Given the description of an element on the screen output the (x, y) to click on. 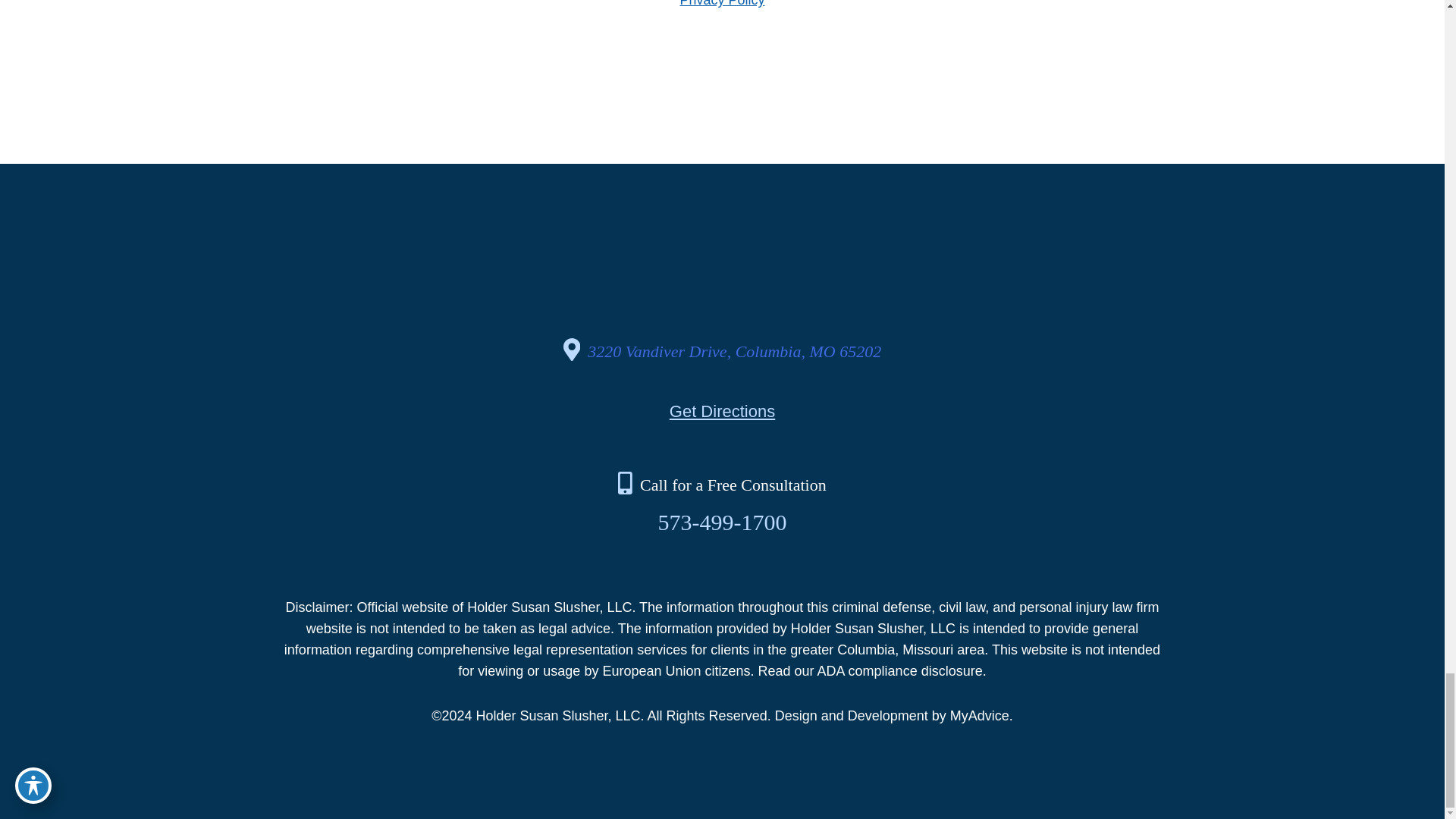
group 519 (722, 275)
